Given the description of an element on the screen output the (x, y) to click on. 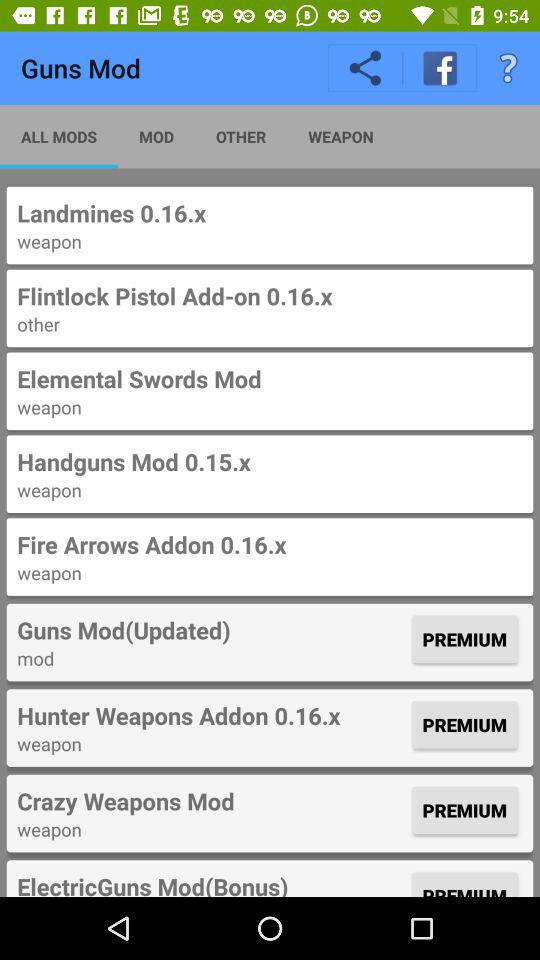
turn on hunter weapons addon icon (211, 715)
